Given the description of an element on the screen output the (x, y) to click on. 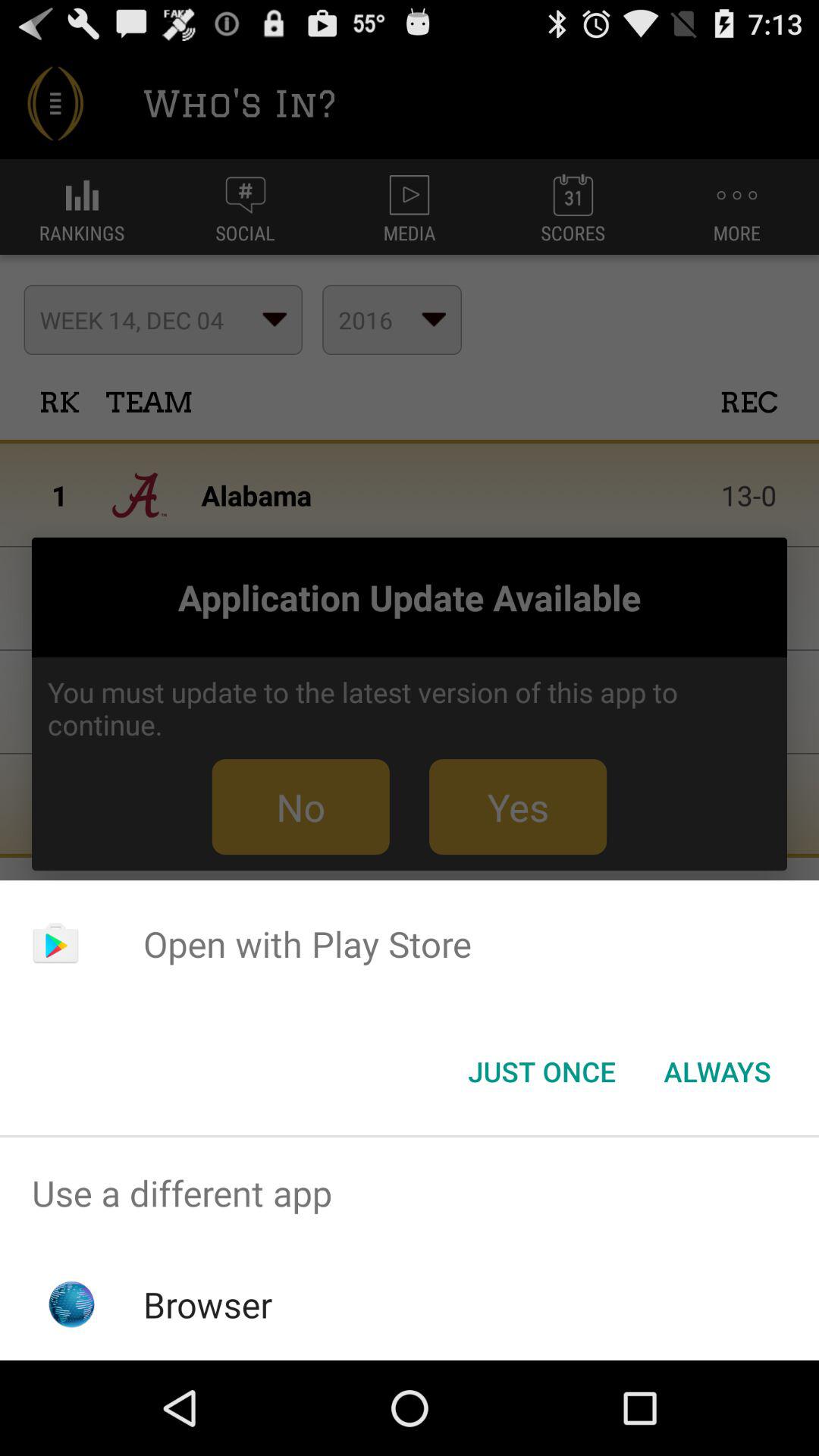
turn off the item below open with play app (541, 1071)
